Given the description of an element on the screen output the (x, y) to click on. 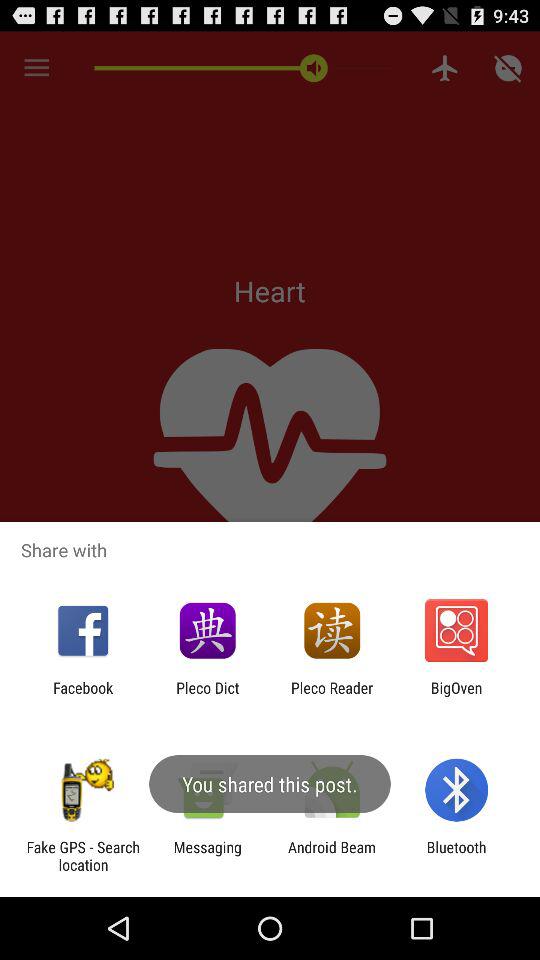
tap the app next to bluetooth icon (332, 856)
